Given the description of an element on the screen output the (x, y) to click on. 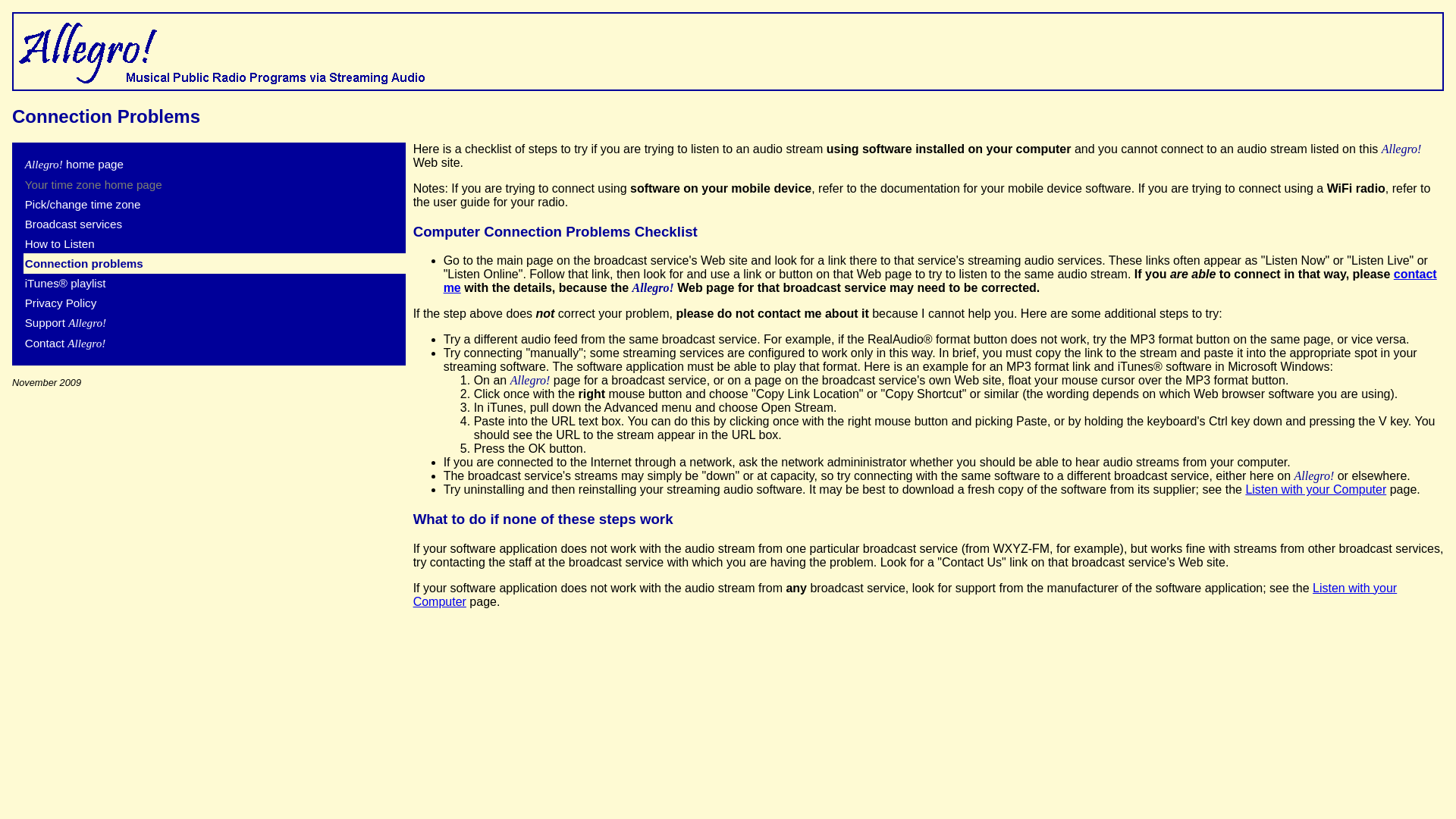
contact me (940, 280)
Support Allegro! (65, 322)
Allegro! home page (73, 164)
November 2009 (46, 382)
Privacy Policy (60, 302)
Contact Allegro! (65, 342)
Date last reviewed or revised (46, 382)
Listen with your Computer (905, 594)
Listen with your Computer (1315, 489)
How to Listen (59, 243)
Broadcast services (73, 223)
